Given the description of an element on the screen output the (x, y) to click on. 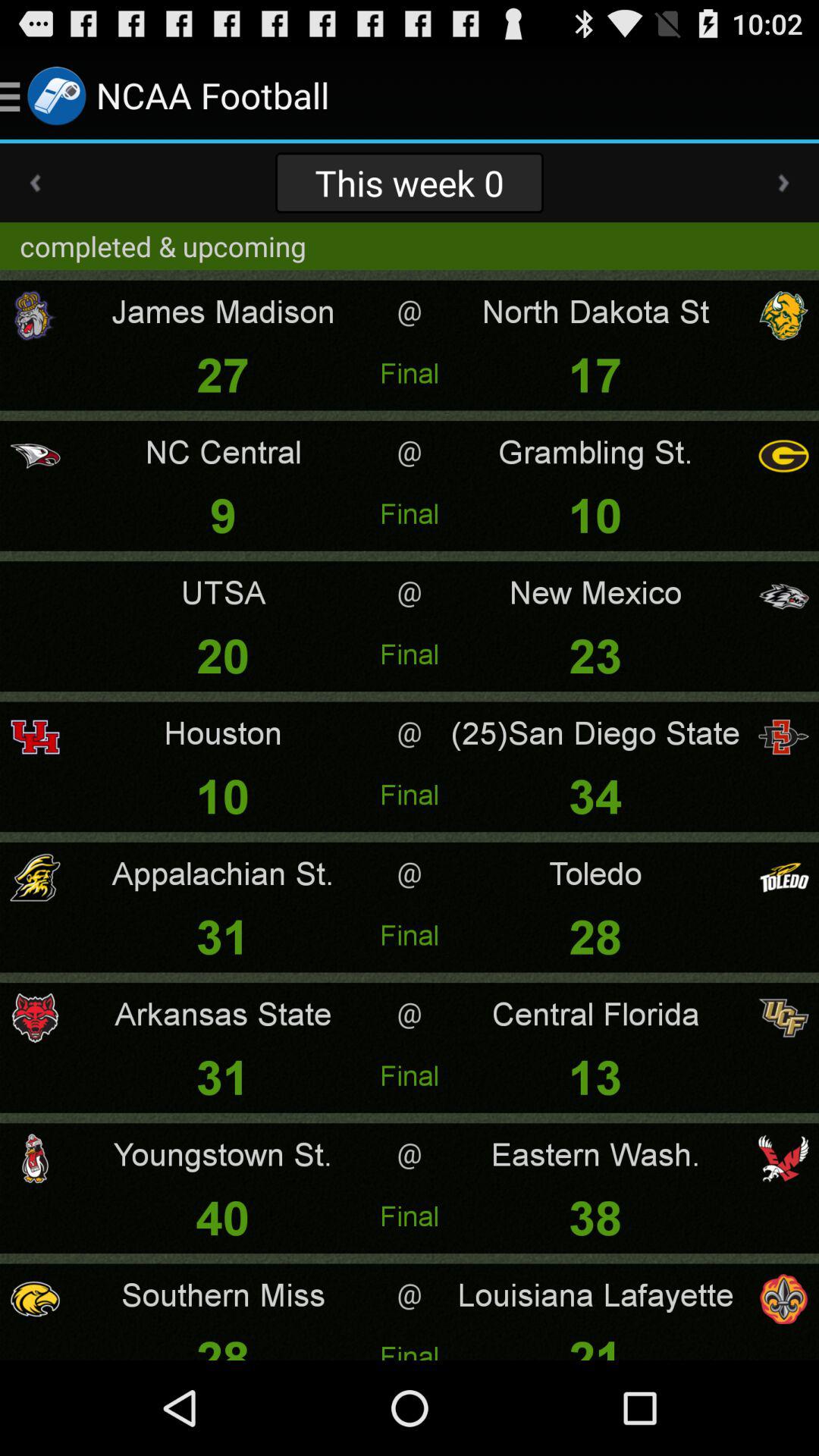
turn off icon next to the this week 0 item (783, 182)
